Given the description of an element on the screen output the (x, y) to click on. 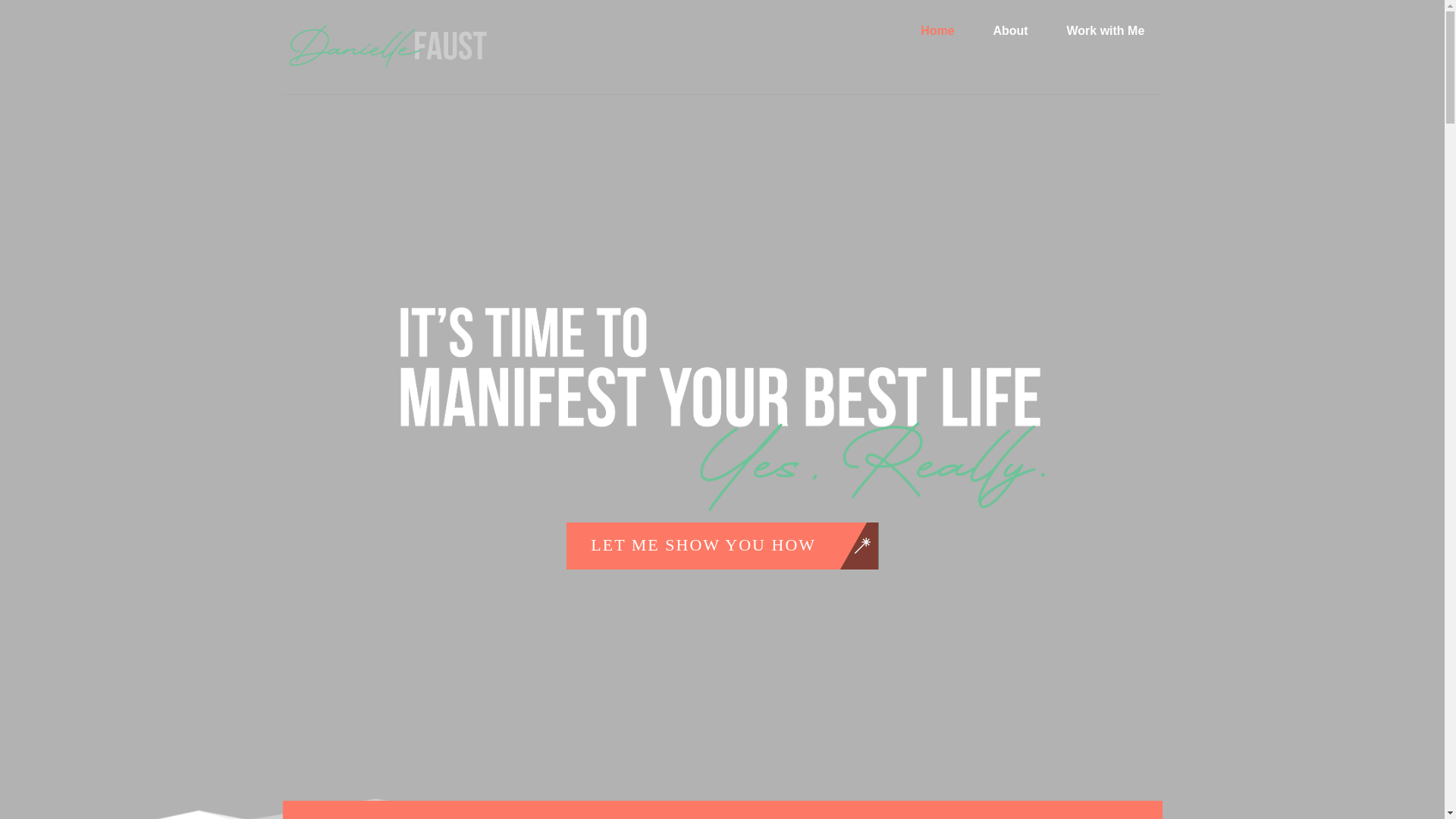
Work with Me (1104, 30)
About (721, 30)
dani-wordmark-color2 (1010, 30)
Home (386, 46)
Danielle Faust (722, 409)
LET ME SHOW YOU HOW (386, 66)
Home (721, 545)
